Given the description of an element on the screen output the (x, y) to click on. 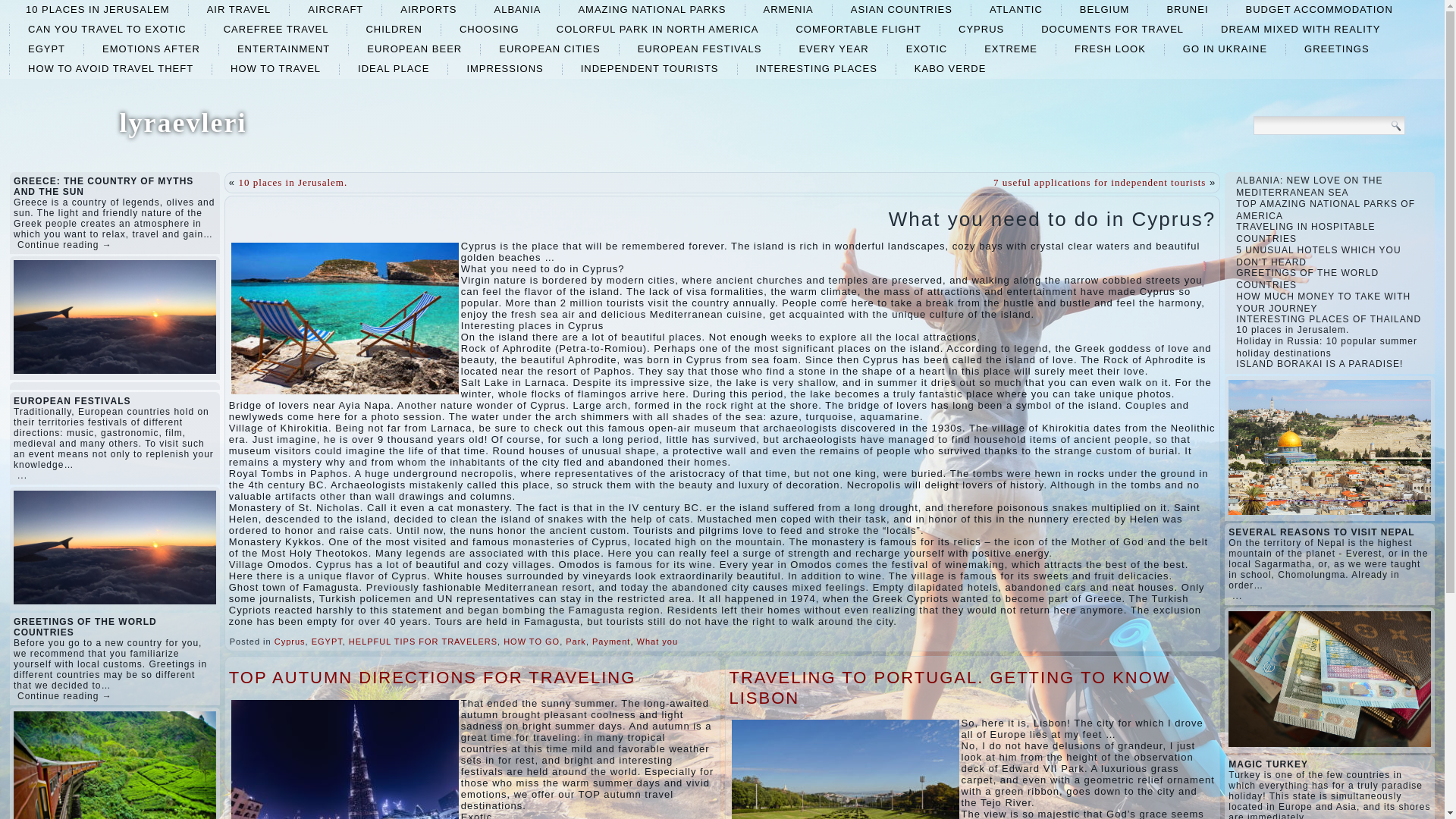
GO IN UKRAINE (1225, 48)
Armenia (787, 9)
COLORFUL PARK IN NORTH AMERICA (658, 29)
ALBANIA (517, 9)
ENTERTAINMENT (283, 48)
ALBANIA (517, 9)
EUROPEAN BEER (414, 48)
FRESH LOOK (1109, 48)
DREAM MIXED WITH REALITY (1300, 29)
EUROPEAN CITIES (548, 48)
